Given the description of an element on the screen output the (x, y) to click on. 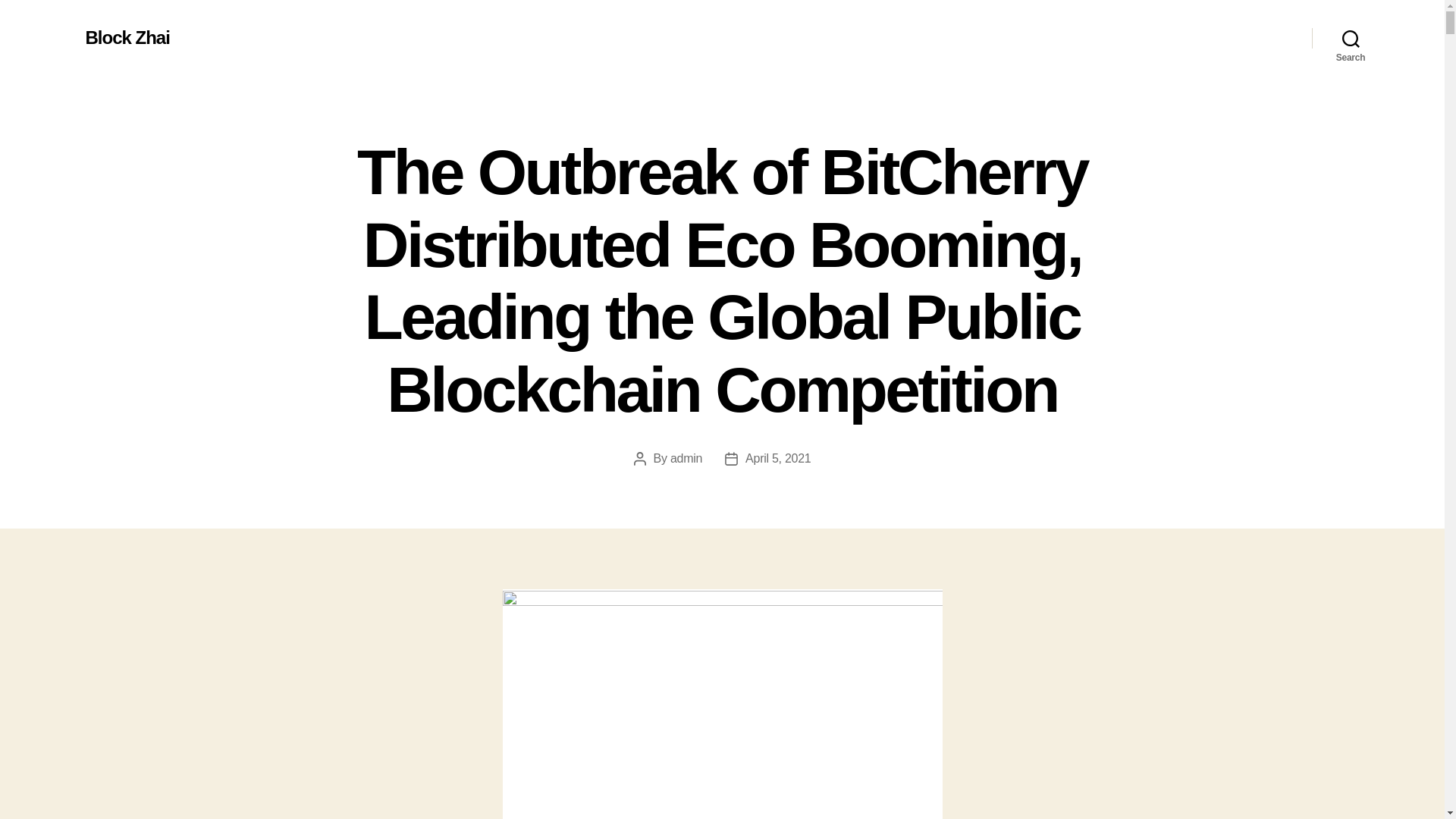
Search (1350, 37)
Block Zhai (126, 37)
admin (685, 458)
April 5, 2021 (777, 458)
